Given the description of an element on the screen output the (x, y) to click on. 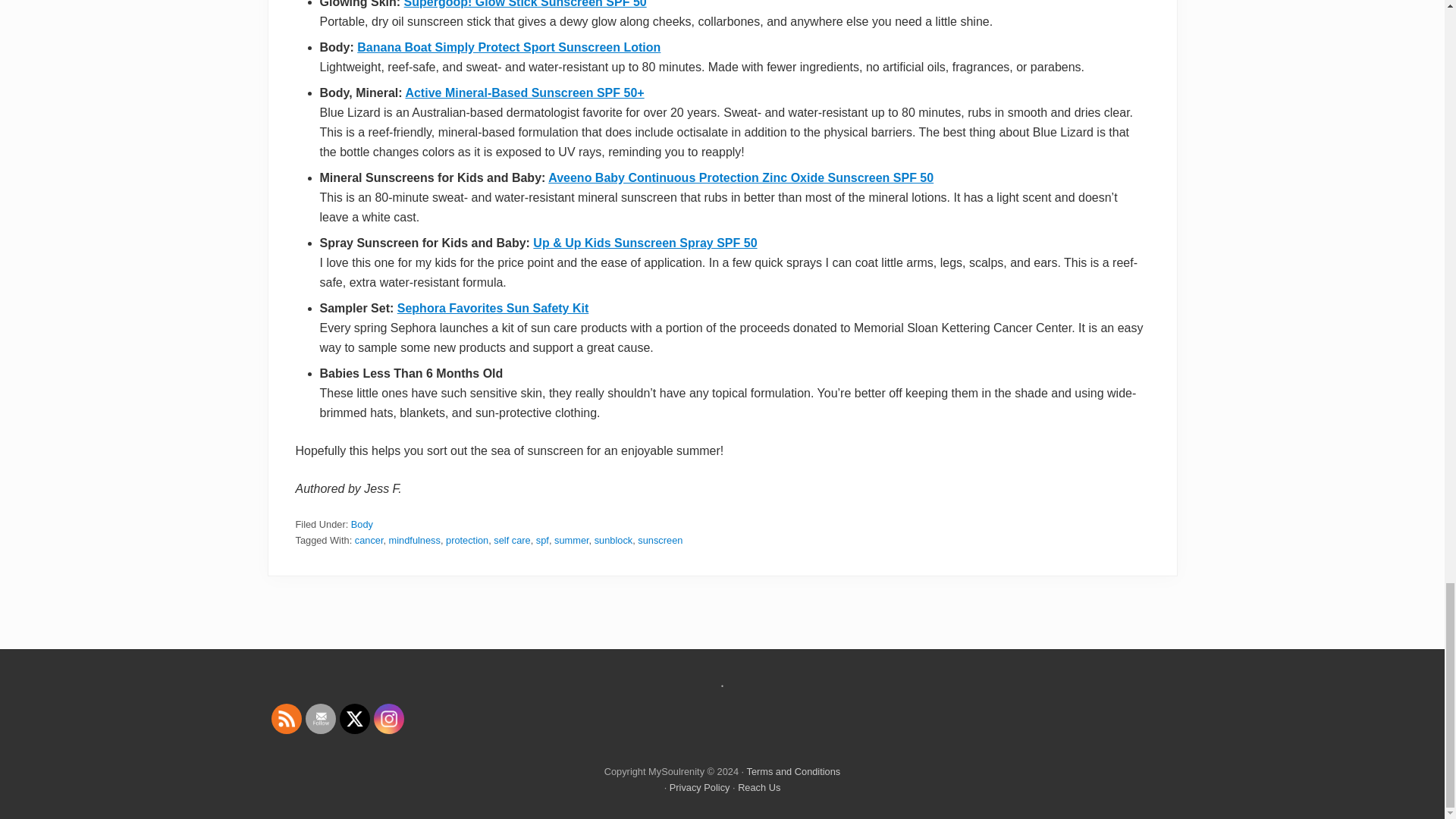
Follow by Email (321, 718)
Instagram (388, 718)
RSS (286, 718)
Twitter (354, 719)
